Given the description of an element on the screen output the (x, y) to click on. 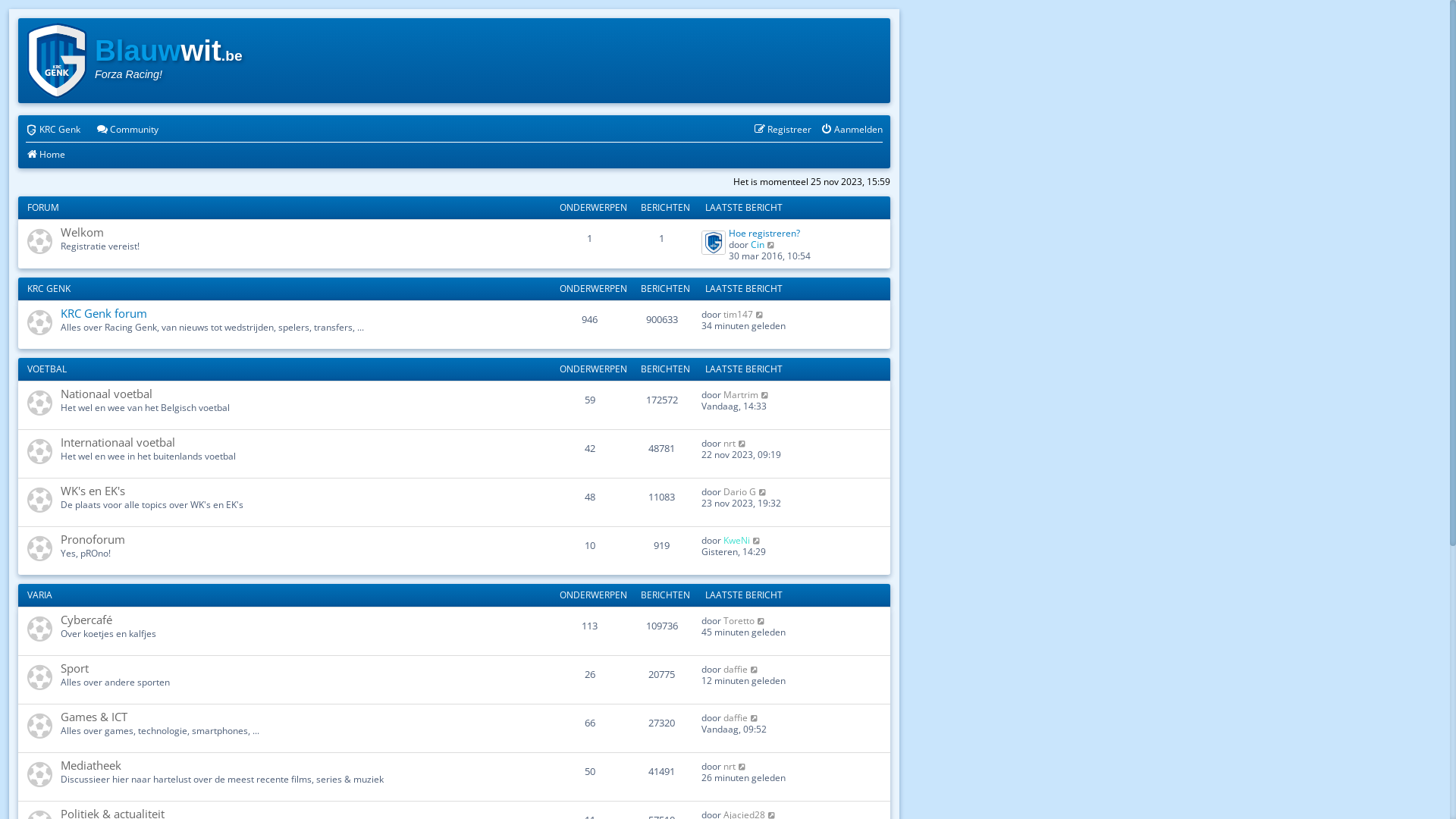
VOETBAL Element type: text (46, 368)
Games & ICT Element type: text (93, 716)
Bekijk laatste bericht Element type: text (771, 244)
Bekijk laatste bericht Element type: text (754, 668)
Bekijk laatste bericht Element type: text (754, 717)
Community Element type: text (127, 129)
Hoe registreren? Element type: text (764, 232)
VARIA Element type: text (39, 594)
Bekijk laatste bericht Element type: text (765, 394)
Bekijk laatste bericht Element type: text (761, 620)
daffie Element type: text (735, 668)
Mediatheek Element type: text (90, 764)
Registreer Element type: text (782, 129)
Sport Element type: text (74, 667)
daffie Element type: text (735, 717)
Pronoforum Element type: text (92, 538)
KRC Genk Element type: text (52, 129)
Home Element type: text (45, 154)
Martrim Element type: text (740, 394)
Dario G Element type: text (739, 491)
KRC GENK Element type: text (48, 288)
tim147 Element type: text (738, 313)
Welkom Element type: text (81, 231)
Nationaal voetbal Element type: text (106, 393)
WK's en EK's Element type: text (92, 490)
Toretto Element type: text (738, 620)
nrt Element type: text (729, 765)
Home Element type: hover (56, 60)
Bekijk laatste bericht Element type: text (763, 491)
nrt Element type: text (729, 442)
Bekijk laatste bericht Element type: text (742, 442)
Bekijk laatste bericht Element type: text (742, 765)
KRC Genk forum Element type: text (103, 312)
Advertisement Element type: hover (605, 60)
Internationaal voetbal Element type: text (117, 441)
Cin Element type: text (757, 244)
Bekijk laatste bericht Element type: text (760, 314)
Aanmelden Element type: text (851, 129)
KweNi Element type: text (736, 539)
Bekijk laatste bericht Element type: text (757, 540)
